Given the description of an element on the screen output the (x, y) to click on. 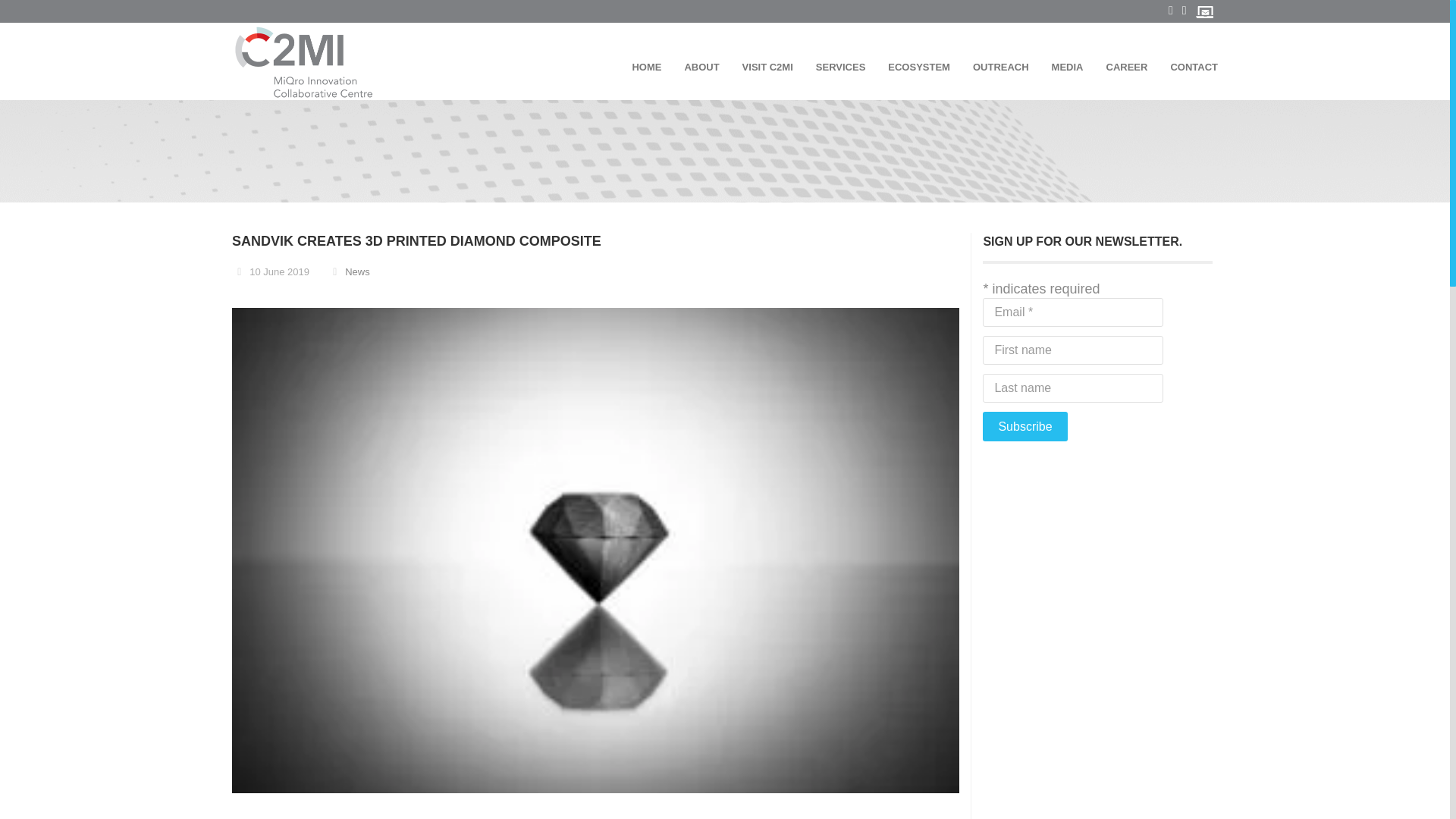
OUTREACH (994, 66)
SERVICES (834, 66)
VISIT C2MI (761, 66)
Newsletter (1204, 10)
ABOUT (694, 66)
ECOSYSTEM (912, 66)
C2MI (312, 61)
HOME (639, 66)
MEDIA (1060, 66)
Subscribe (1024, 426)
